Given the description of an element on the screen output the (x, y) to click on. 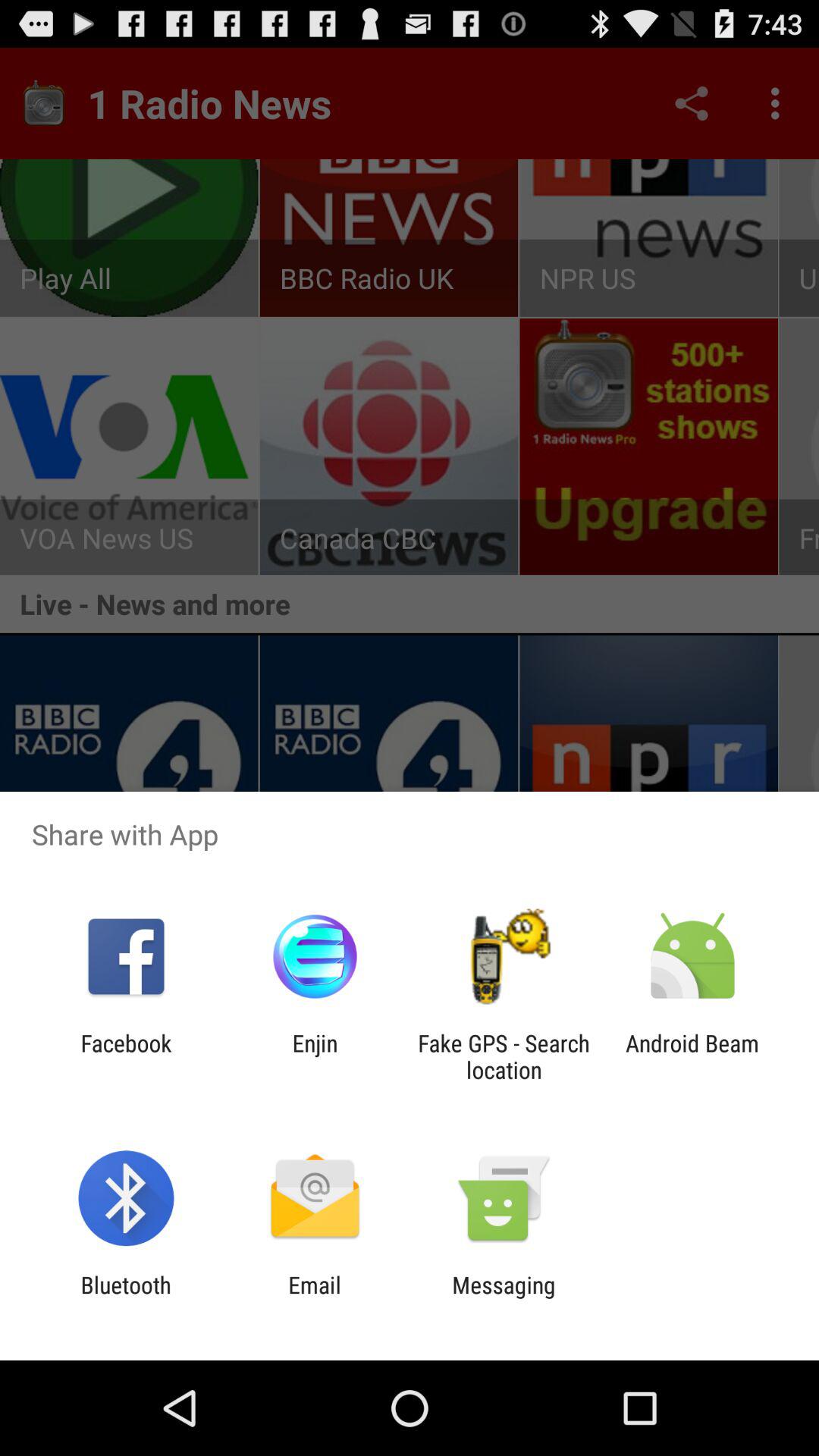
turn on icon to the left of email (125, 1298)
